Given the description of an element on the screen output the (x, y) to click on. 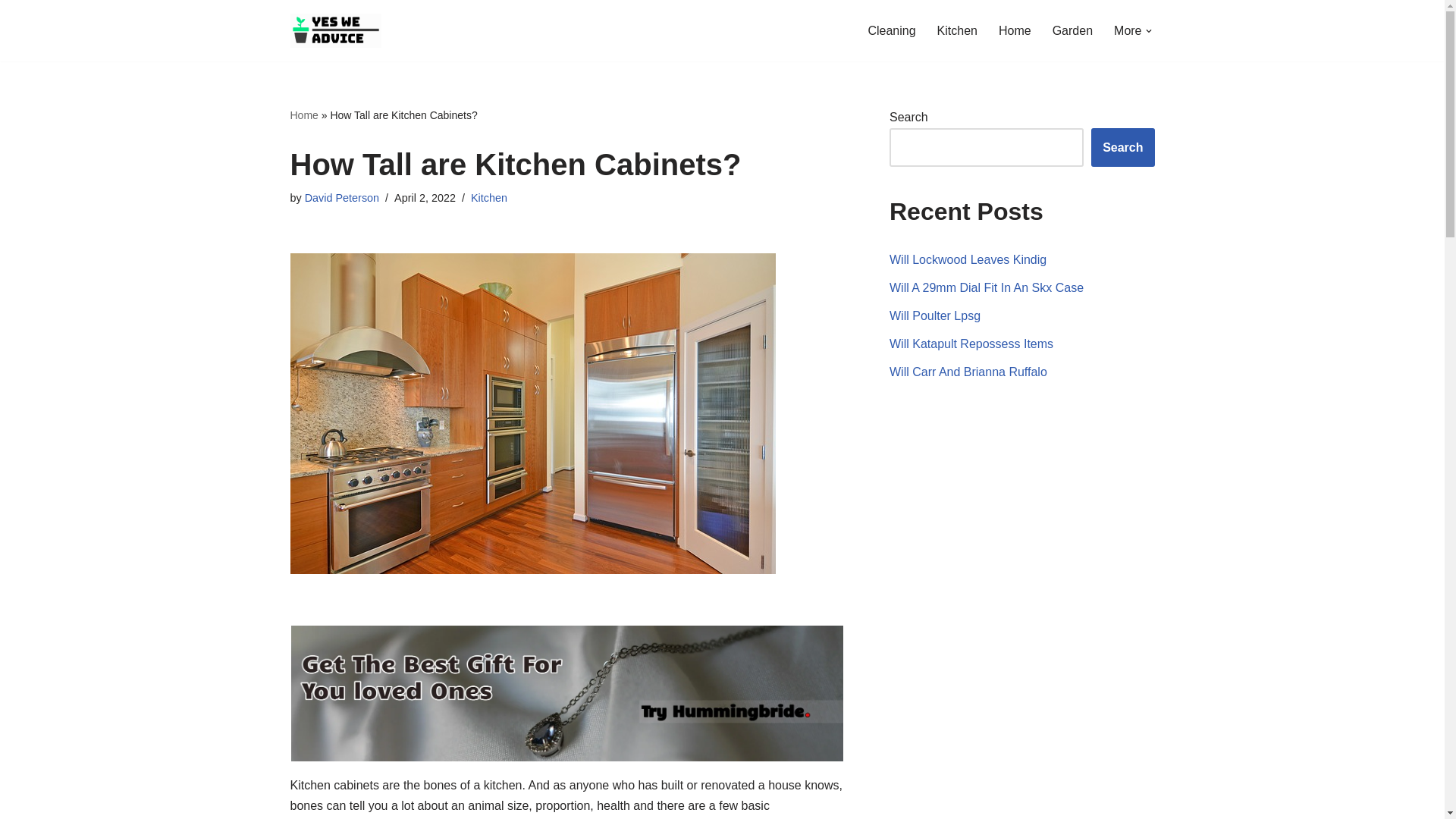
Skip to content (11, 31)
Kitchen (488, 197)
Cleaning (891, 30)
David Peterson (341, 197)
More (1127, 30)
Home (303, 114)
Garden (1072, 30)
Will Lockwood Leaves Kindig (967, 259)
Search (1122, 147)
Kitchen (956, 30)
